Given the description of an element on the screen output the (x, y) to click on. 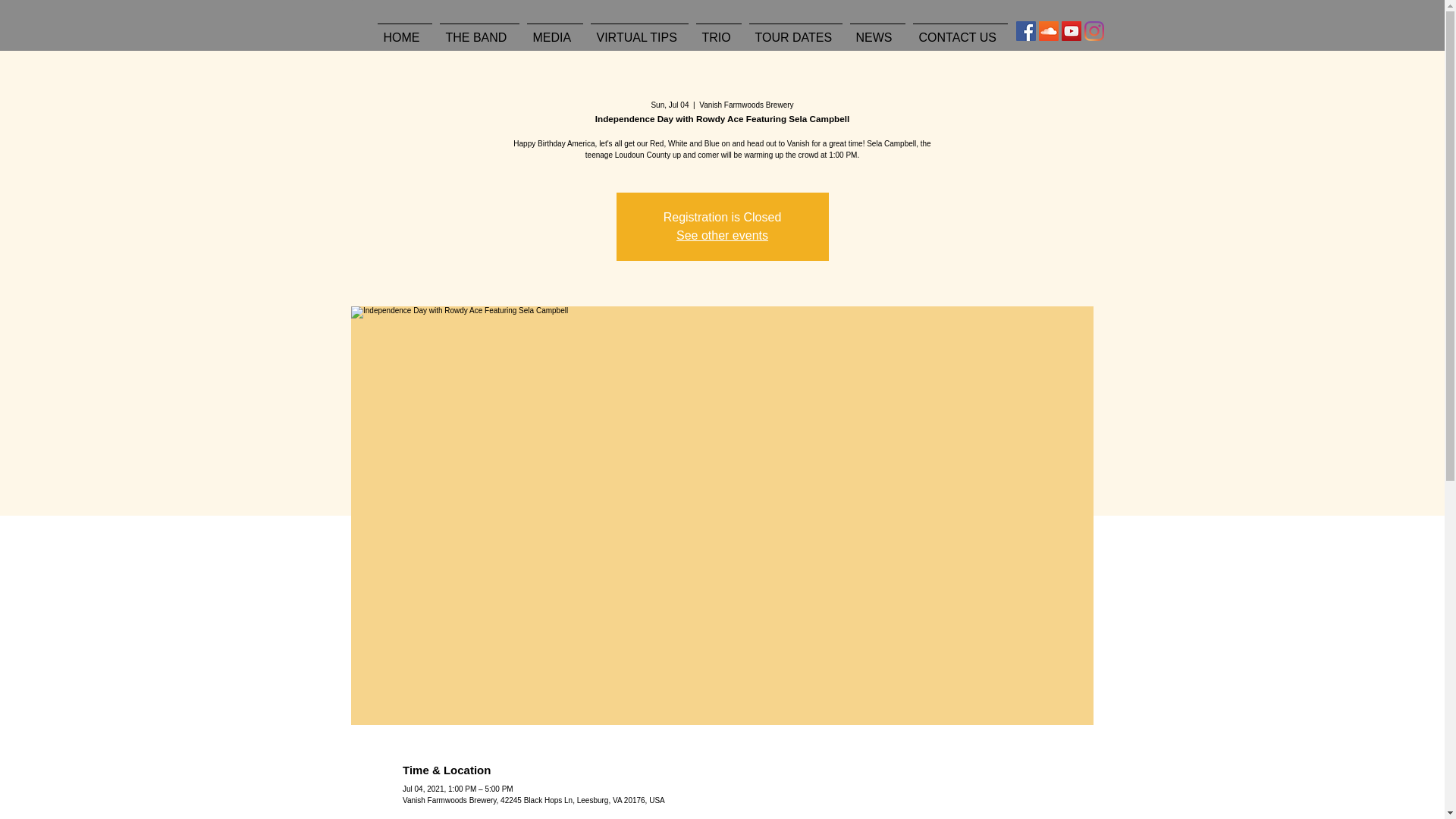
See other events (722, 235)
NEWS (876, 30)
TRIO (717, 30)
THE BAND (478, 30)
TOUR DATES (794, 30)
VIRTUAL TIPS (639, 30)
CONTACT US (959, 30)
HOME (403, 30)
MEDIA (554, 30)
